Given the description of an element on the screen output the (x, y) to click on. 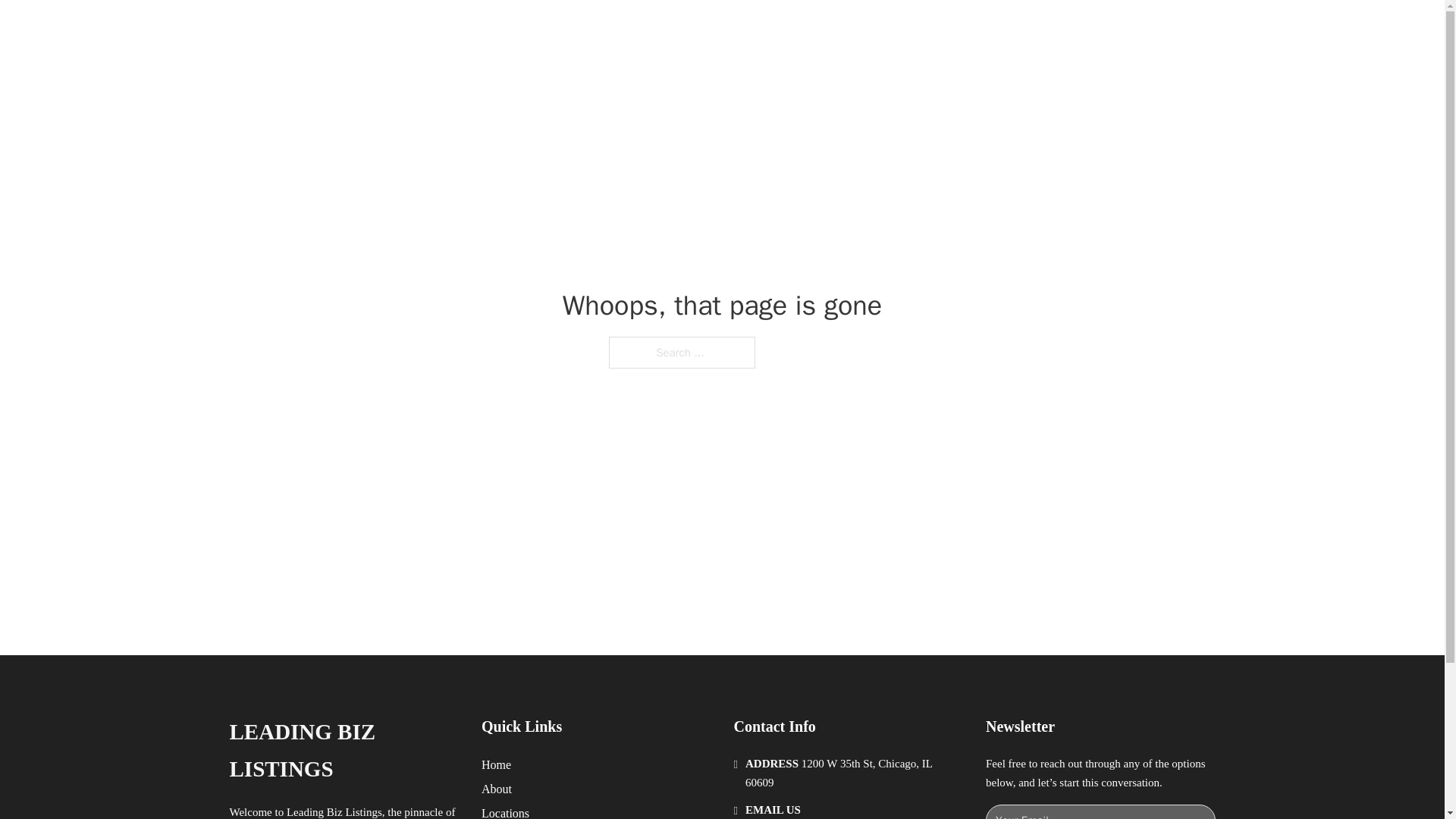
Locations (505, 811)
Home (496, 764)
LEADING BIZ LISTINGS (343, 750)
About (496, 788)
